Given the description of an element on the screen output the (x, y) to click on. 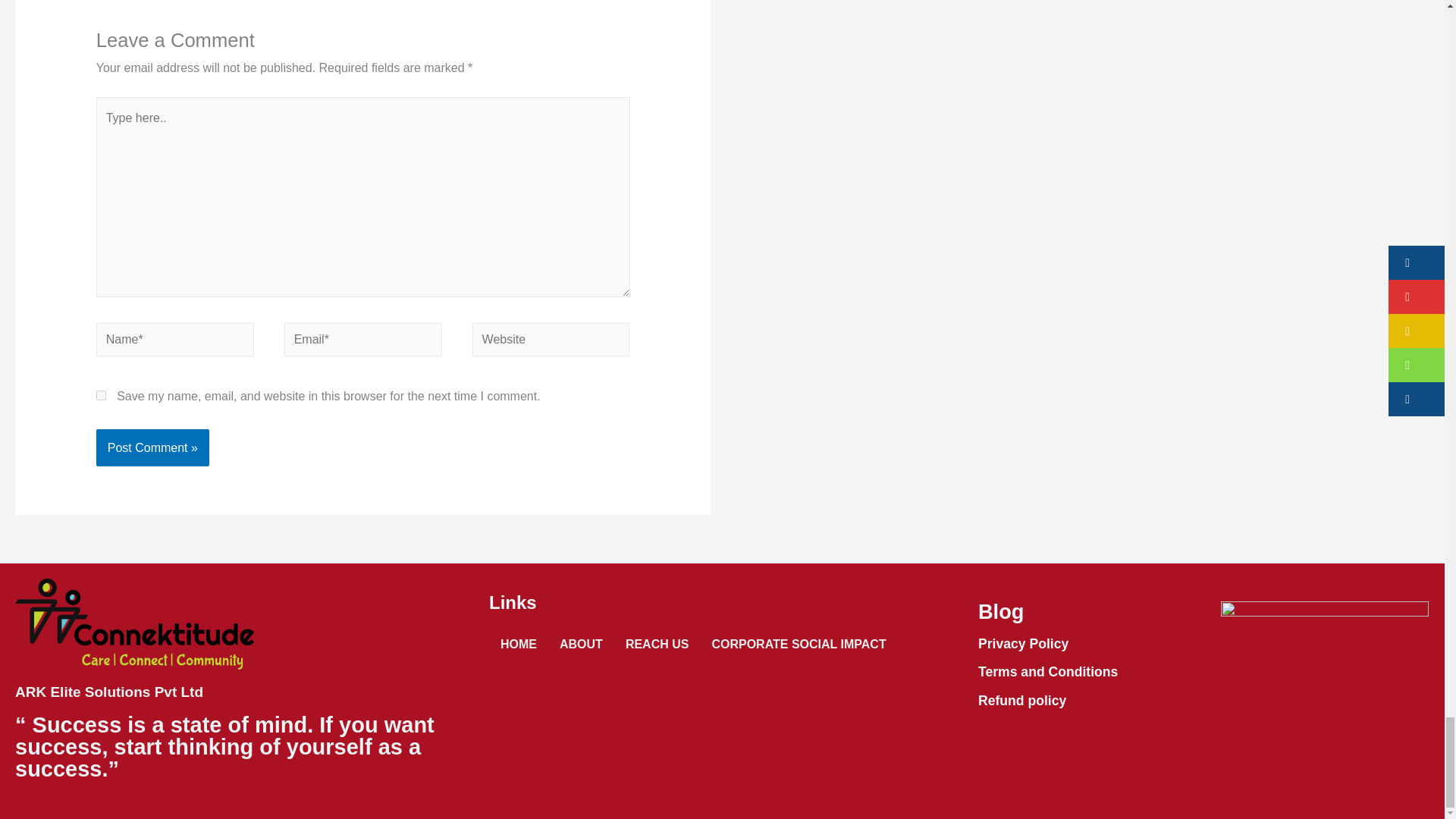
REACH US (657, 644)
Privacy Policy (1023, 643)
yes (101, 395)
CORPORATE SOCIAL IMPACT (798, 644)
HOME (518, 644)
Terms and Conditions (1048, 671)
Refund policy (1021, 700)
ABOUT (581, 644)
